Given the description of an element on the screen output the (x, y) to click on. 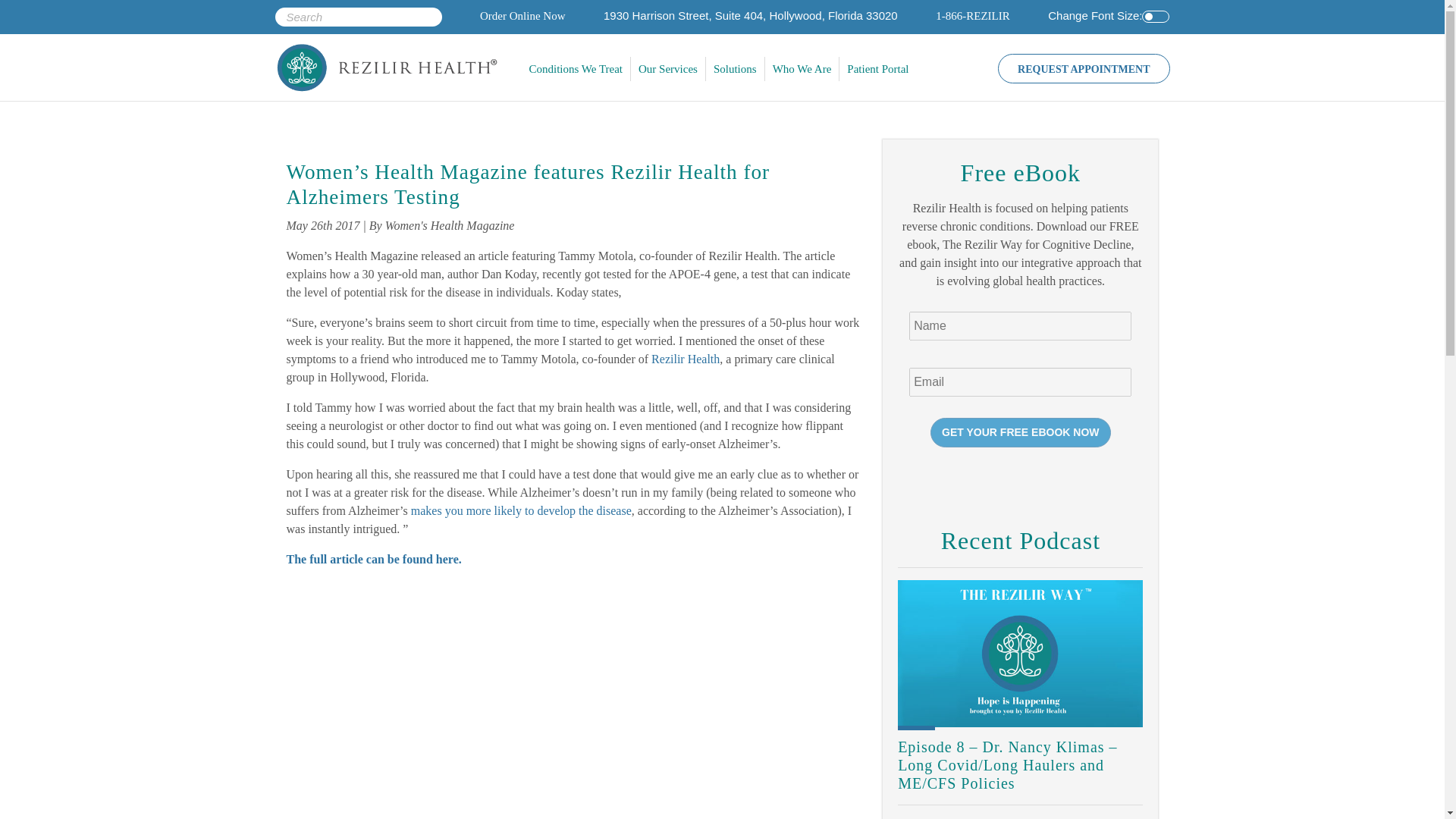
Conditions We Treat (576, 68)
1-866-REZILIR (972, 15)
Solutions (735, 68)
Get your FREE ebook now (1019, 432)
Order Online Now (522, 15)
Our Services (668, 68)
Who We Are (802, 68)
